Given the description of an element on the screen output the (x, y) to click on. 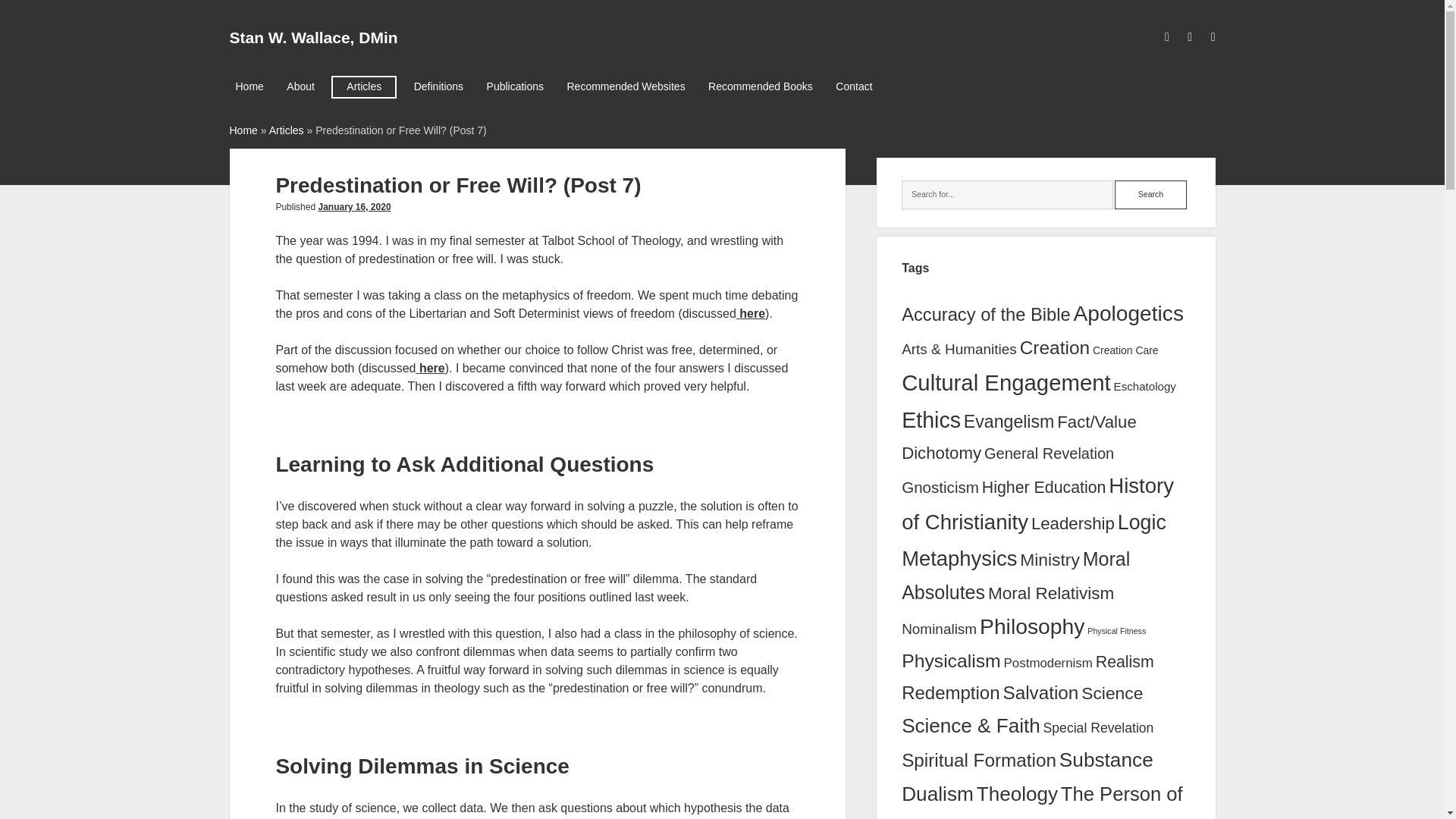
Contact (853, 86)
Home (248, 86)
Articles (286, 130)
Eschatology (1144, 386)
Apologetics (1128, 313)
Publications (515, 86)
here (752, 313)
Stan W. Wallace, DMin (312, 36)
Search (1150, 194)
Search (1150, 194)
Ethics (930, 419)
here (432, 367)
About (300, 86)
Recommended Websites (625, 86)
Home (242, 130)
